Given the description of an element on the screen output the (x, y) to click on. 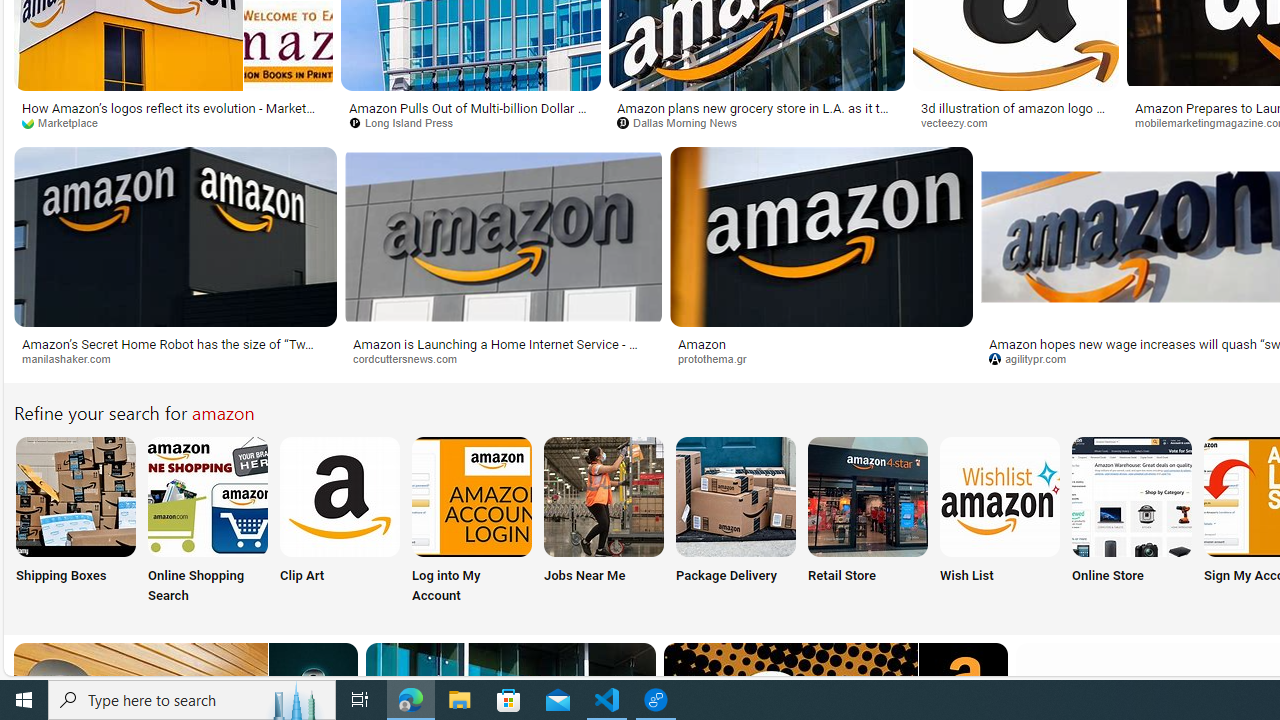
Wish List (999, 521)
Amazon (701, 343)
Amazon Online Shopping Search Online Shopping Search (207, 521)
Long Island Press (470, 123)
Amazon Log into My Account Log into My Account (472, 521)
protothema.gr (719, 358)
Amazon Clip Art Clip Art (339, 521)
Marketplace (66, 121)
manilashaker.com (73, 358)
Amazon Package Delivery (735, 496)
Amazon Online Shopping Search (207, 496)
manilashaker.com (174, 359)
agilitypr.com (1035, 358)
